Given the description of an element on the screen output the (x, y) to click on. 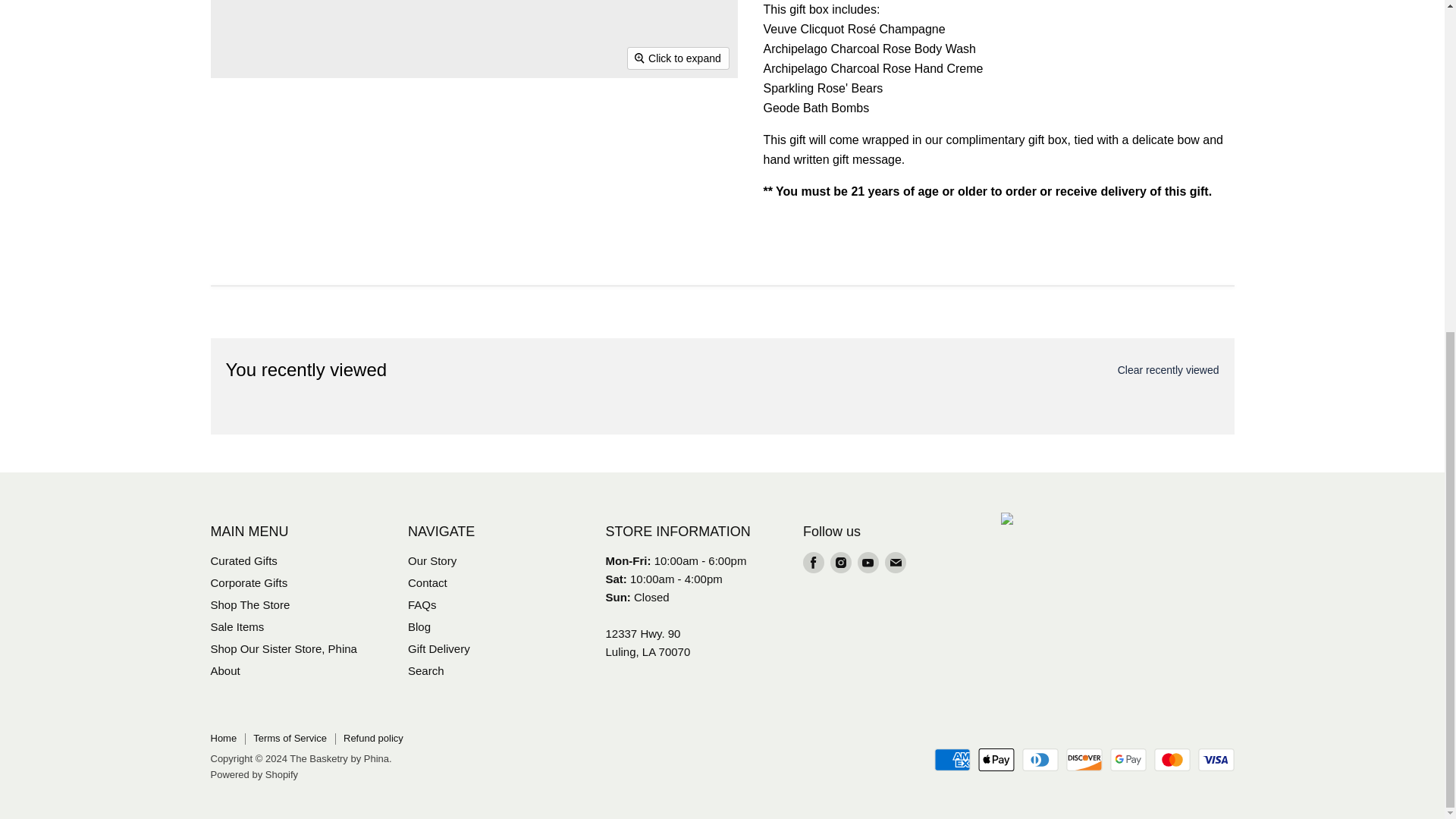
Email (895, 562)
Instagram (840, 562)
Youtube (868, 562)
Facebook (813, 562)
American Express (952, 759)
